Given the description of an element on the screen output the (x, y) to click on. 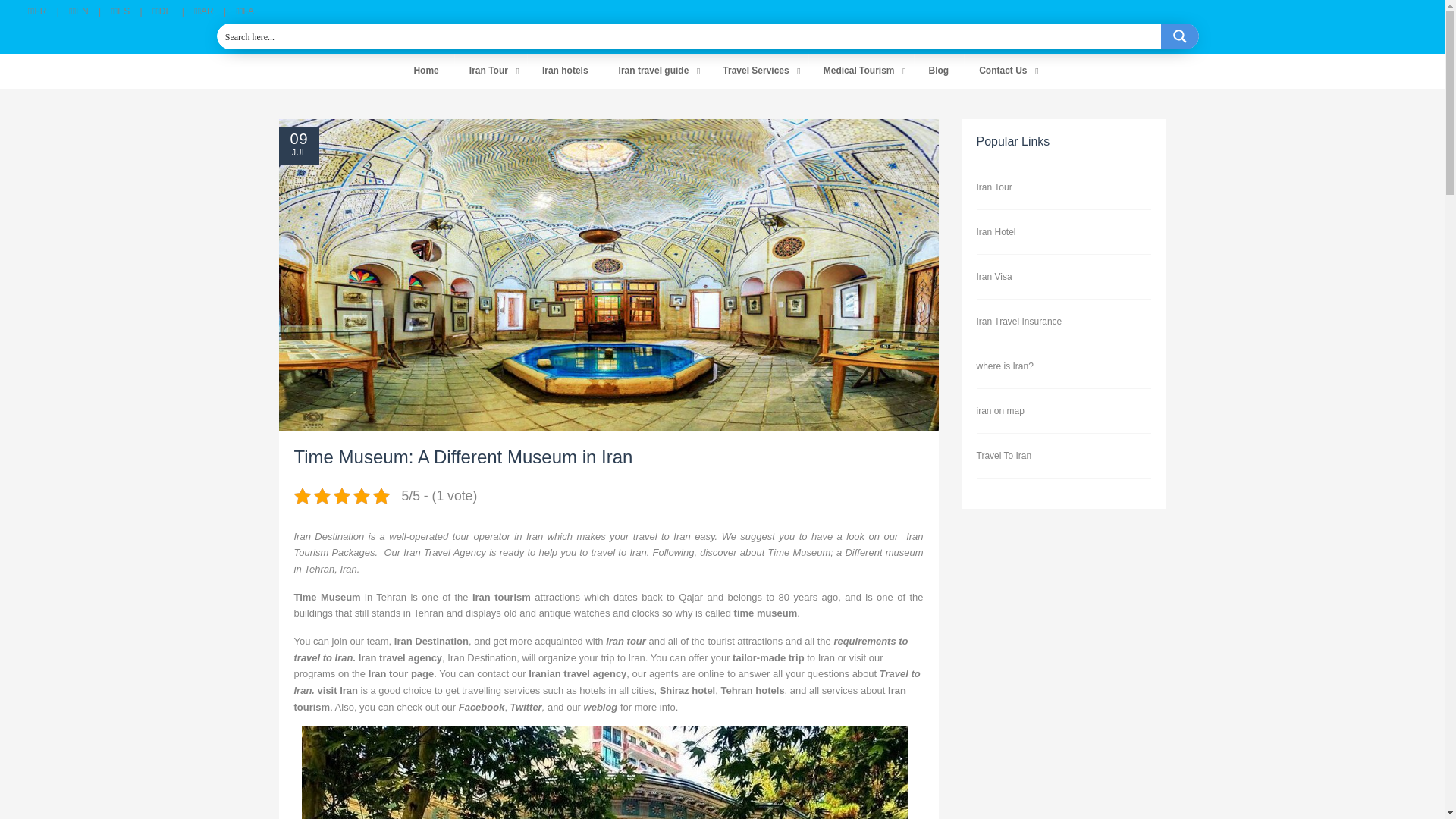
Iran hotel (565, 71)
Travel Services (757, 71)
Home (424, 71)
Iran Tour (490, 71)
Contact Us (1004, 71)
Iran travel guide (655, 71)
Iran Tour (490, 71)
Iran hotels (565, 71)
